Given the description of an element on the screen output the (x, y) to click on. 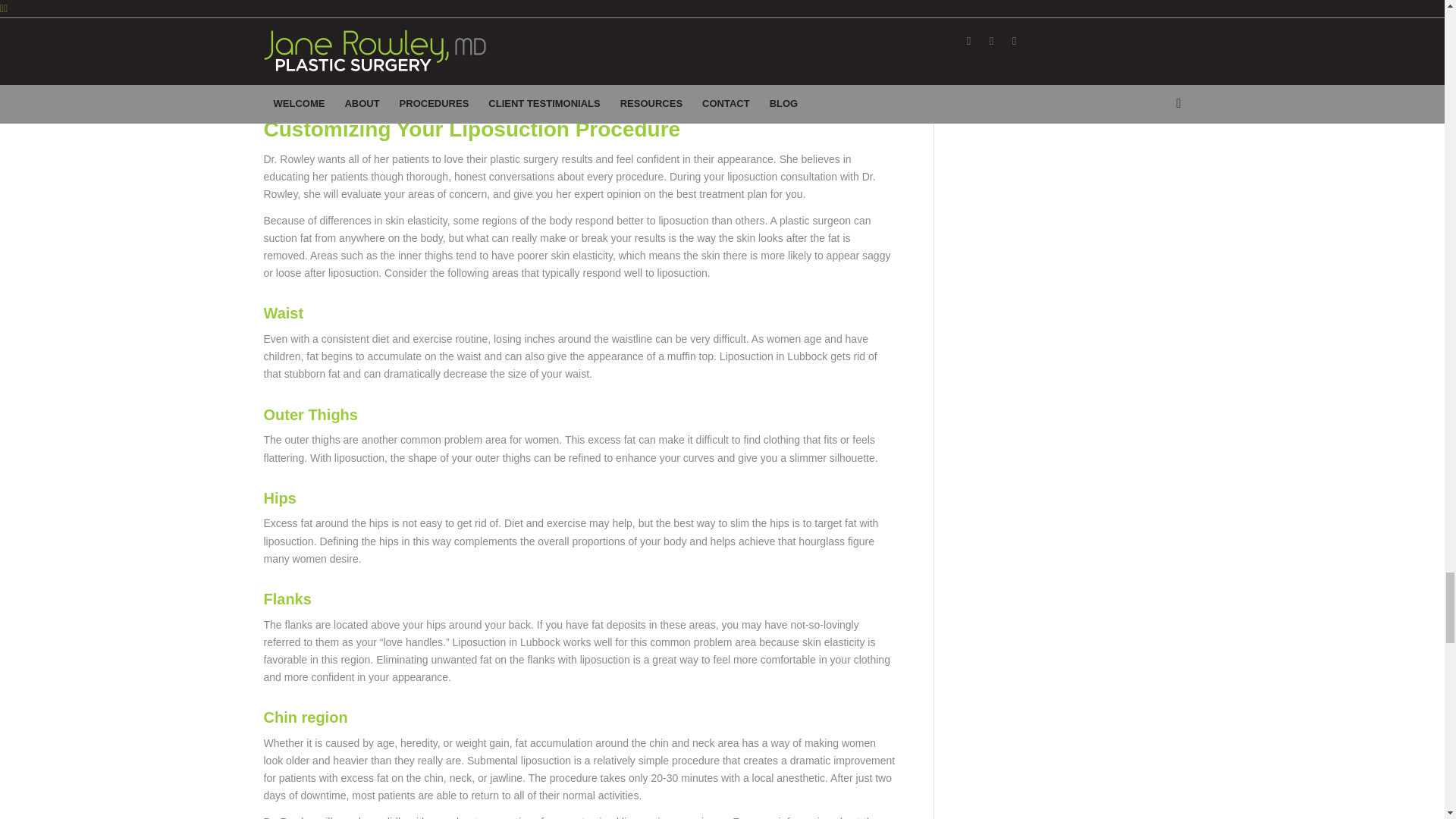
Jane Rowley - Liposuction (579, 48)
